Given the description of an element on the screen output the (x, y) to click on. 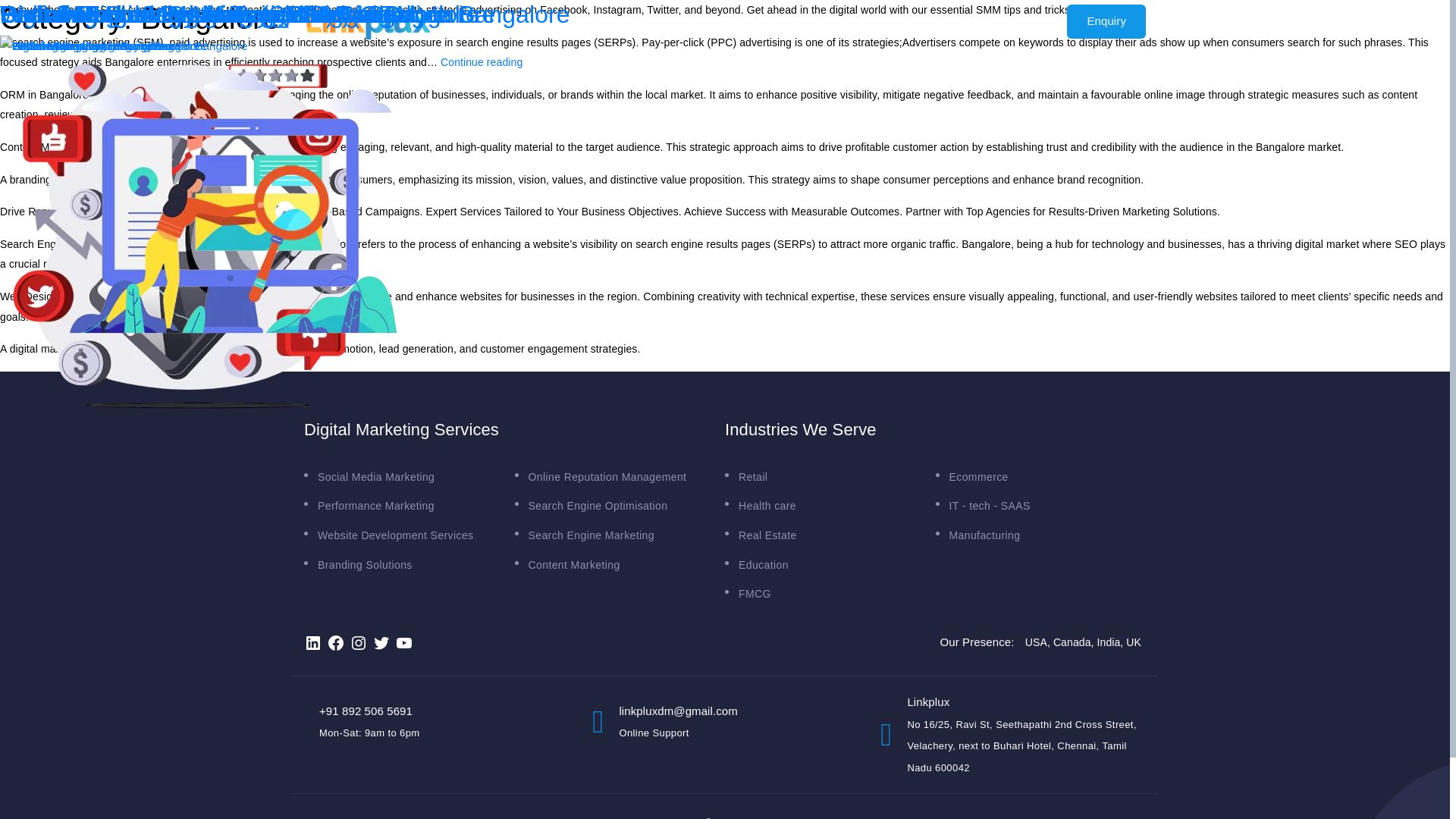
Digital Marketing Agency in Bangalore (206, 13)
ContactUs (833, 21)
Content Marketing In Bangalore (172, 13)
Our Story (587, 21)
Performance Marketing in Bangalore (198, 13)
Enquiry (1106, 21)
Services (660, 21)
Linkplux (291, 263)
Home (772, 817)
